Given the description of an element on the screen output the (x, y) to click on. 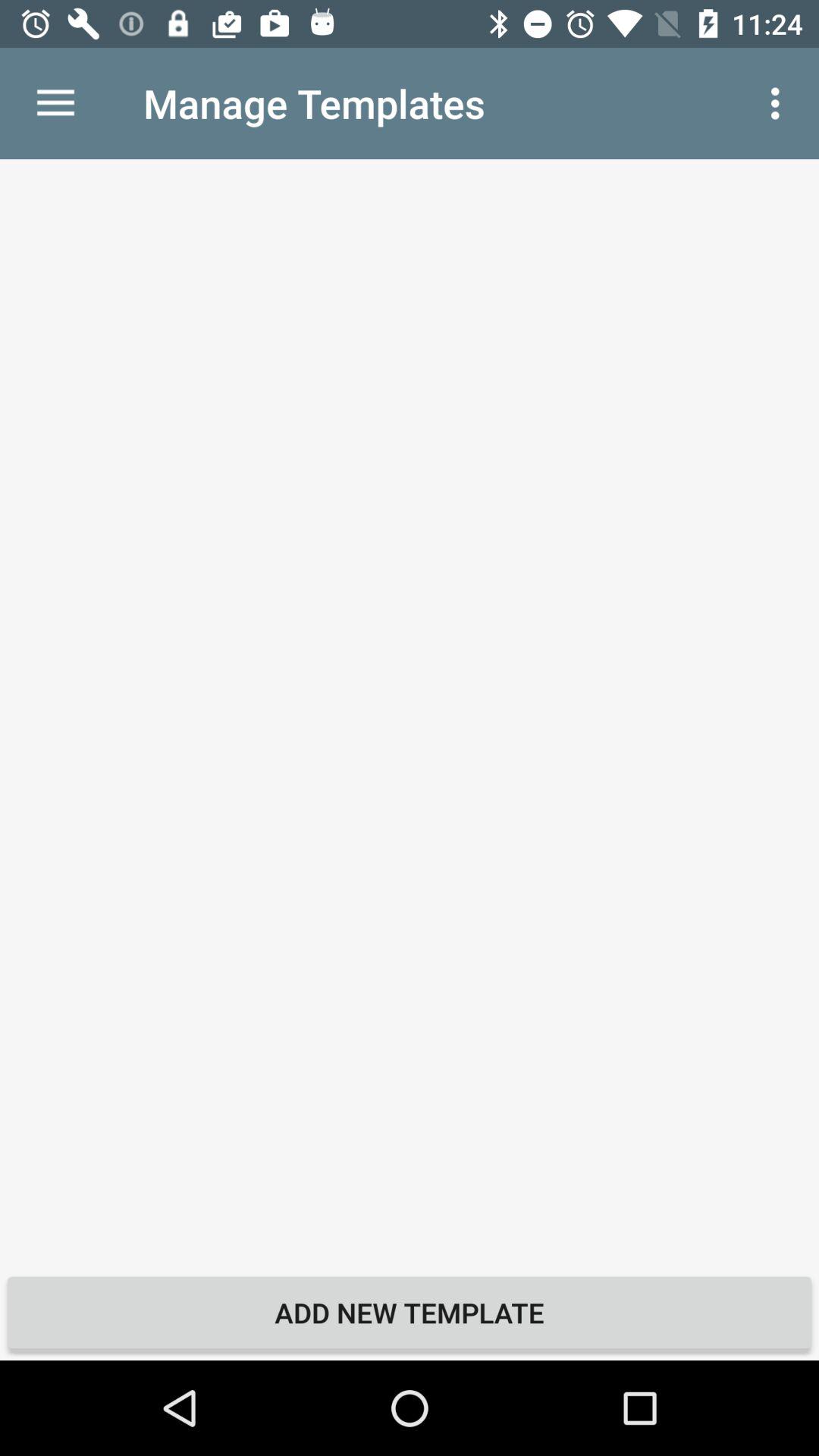
press icon to the right of manage templates (779, 103)
